Given the description of an element on the screen output the (x, y) to click on. 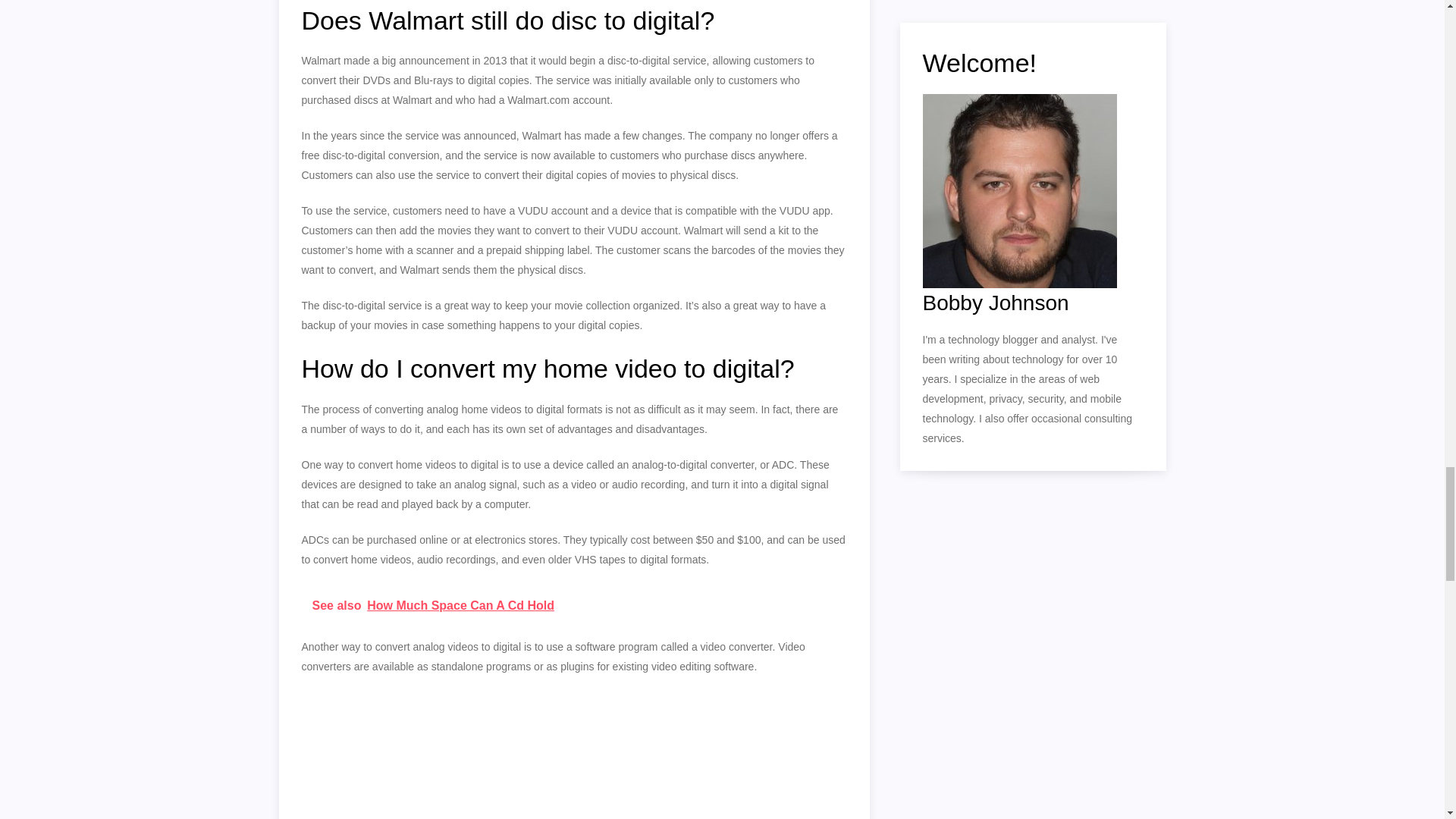
See also  How Much Space Can A Cd Hold (574, 605)
